Given the description of an element on the screen output the (x, y) to click on. 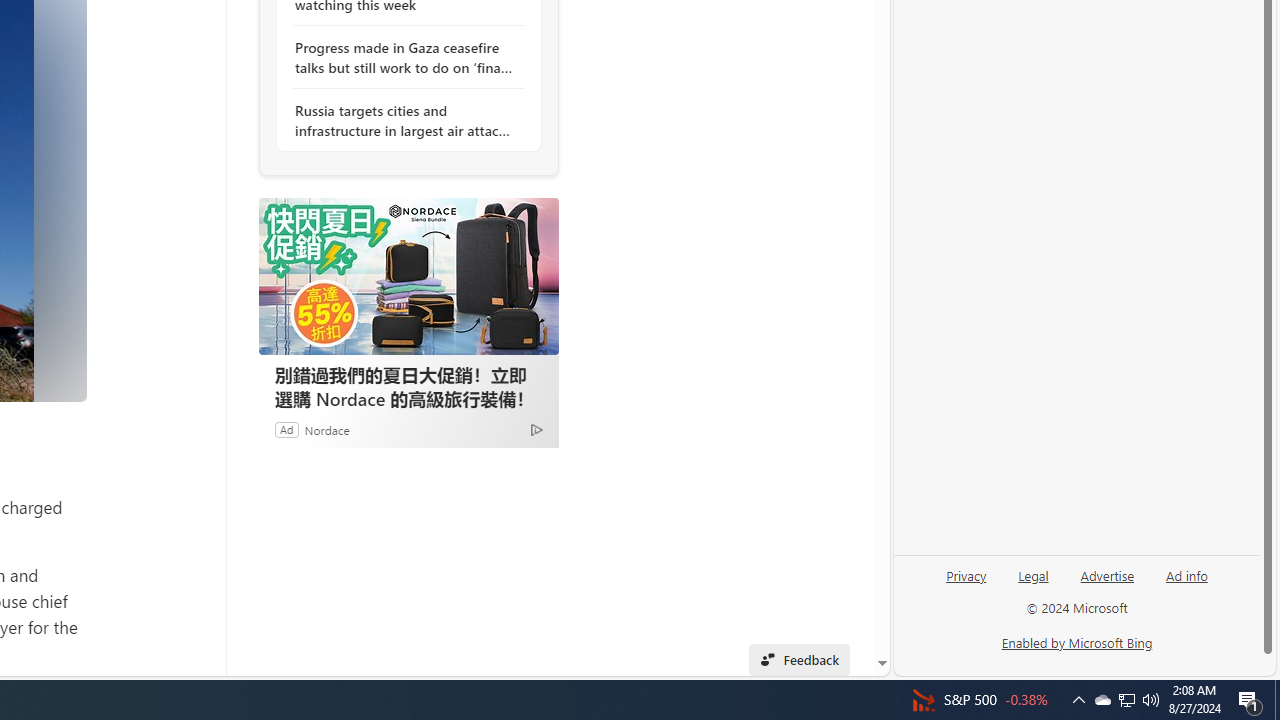
Ad info (1186, 583)
Ad info (1187, 574)
Feedback (798, 659)
Advertise (1106, 583)
Privacy (965, 574)
Privacy (966, 583)
Ad Choice (535, 429)
Legal (1033, 574)
Legal (1033, 583)
